Given the description of an element on the screen output the (x, y) to click on. 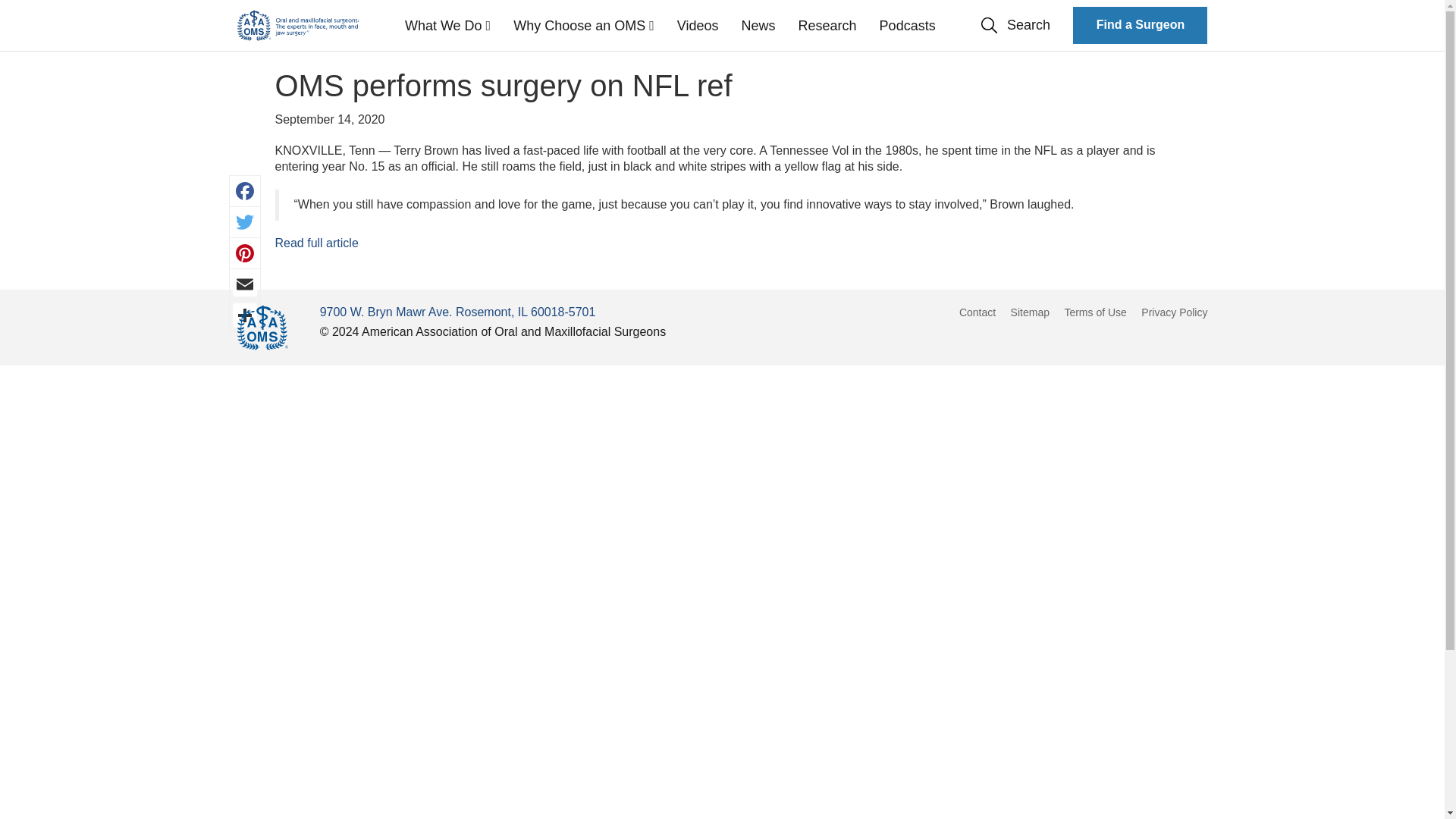
Why Choose an OMS (583, 25)
News (758, 25)
What We Do (447, 25)
Videos (697, 25)
Research (827, 25)
Find a Surgeon (1140, 25)
Search (1015, 25)
Email (244, 284)
Podcasts (907, 25)
Twitter (244, 222)
